Given the description of an element on the screen output the (x, y) to click on. 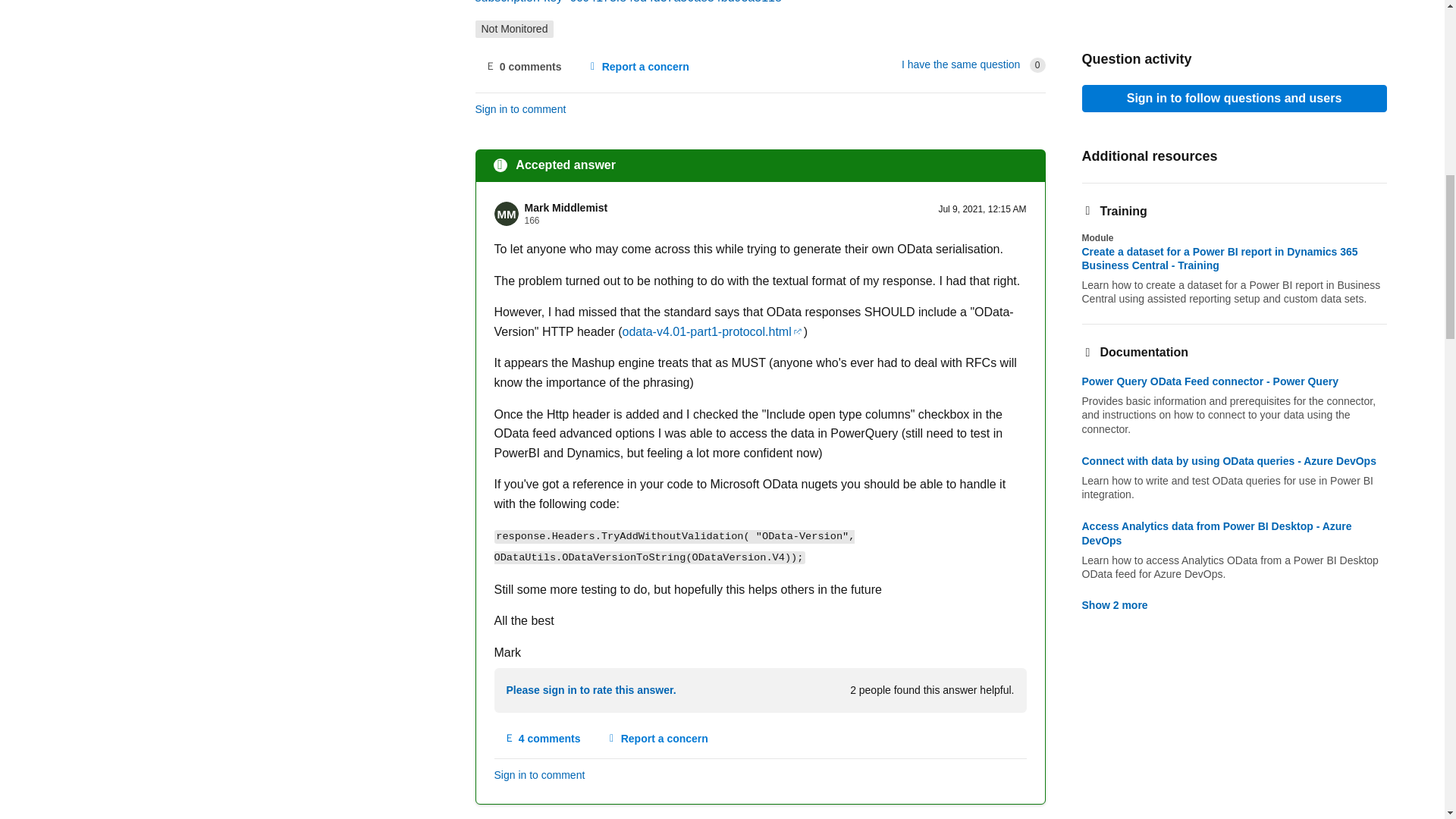
Report a concern (656, 738)
Report a concern (637, 66)
Reputation points (532, 220)
No comments (522, 66)
Show comments for this answer (543, 738)
You have the same or similar question (960, 64)
